Given the description of an element on the screen output the (x, y) to click on. 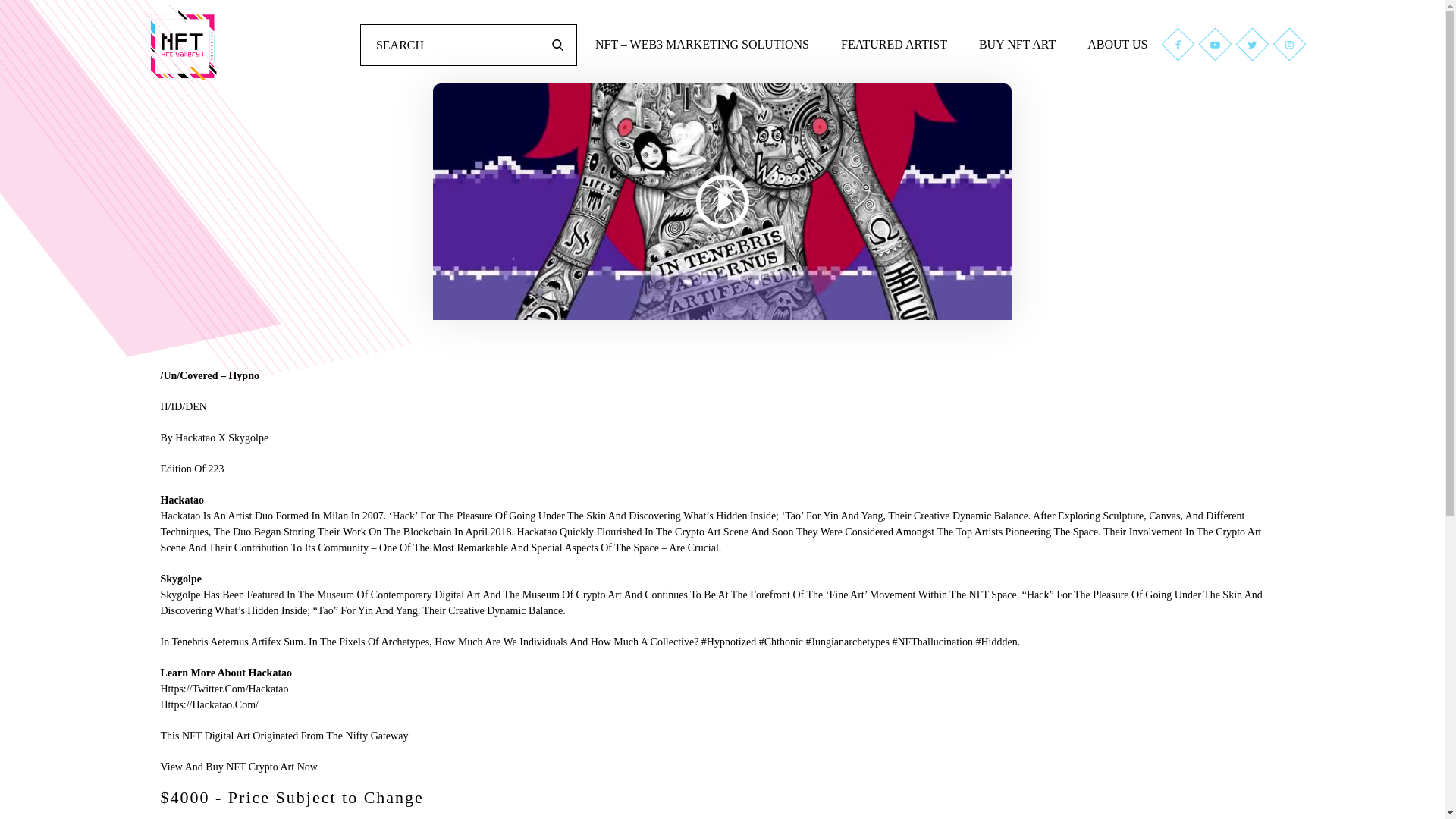
FEATURED ARTIST (894, 44)
BUY NFT ART (1016, 44)
ABOUT US (1117, 44)
Nifty Gateway (377, 736)
